Given the description of an element on the screen output the (x, y) to click on. 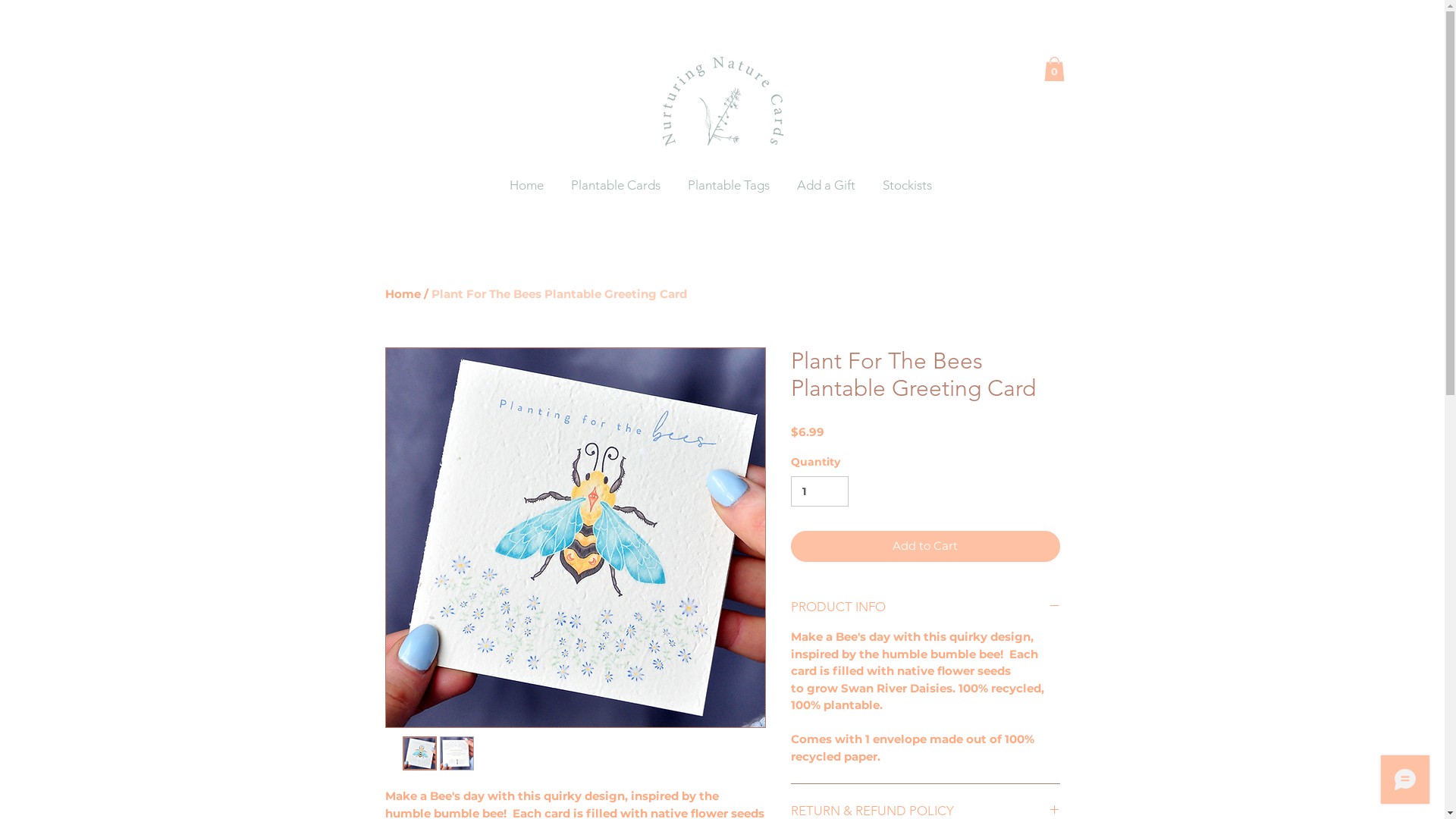
Home Element type: text (402, 293)
0 Element type: text (1053, 68)
Add to Cart Element type: text (924, 545)
Plantable Tags Element type: text (730, 184)
Plantable Cards Element type: text (617, 184)
Plant For The Bees Plantable Greeting Card Element type: text (558, 293)
PRODUCT INFO Element type: text (924, 607)
Home Element type: text (527, 184)
Add a Gift Element type: text (828, 184)
Stockists Element type: text (908, 184)
